Given the description of an element on the screen output the (x, y) to click on. 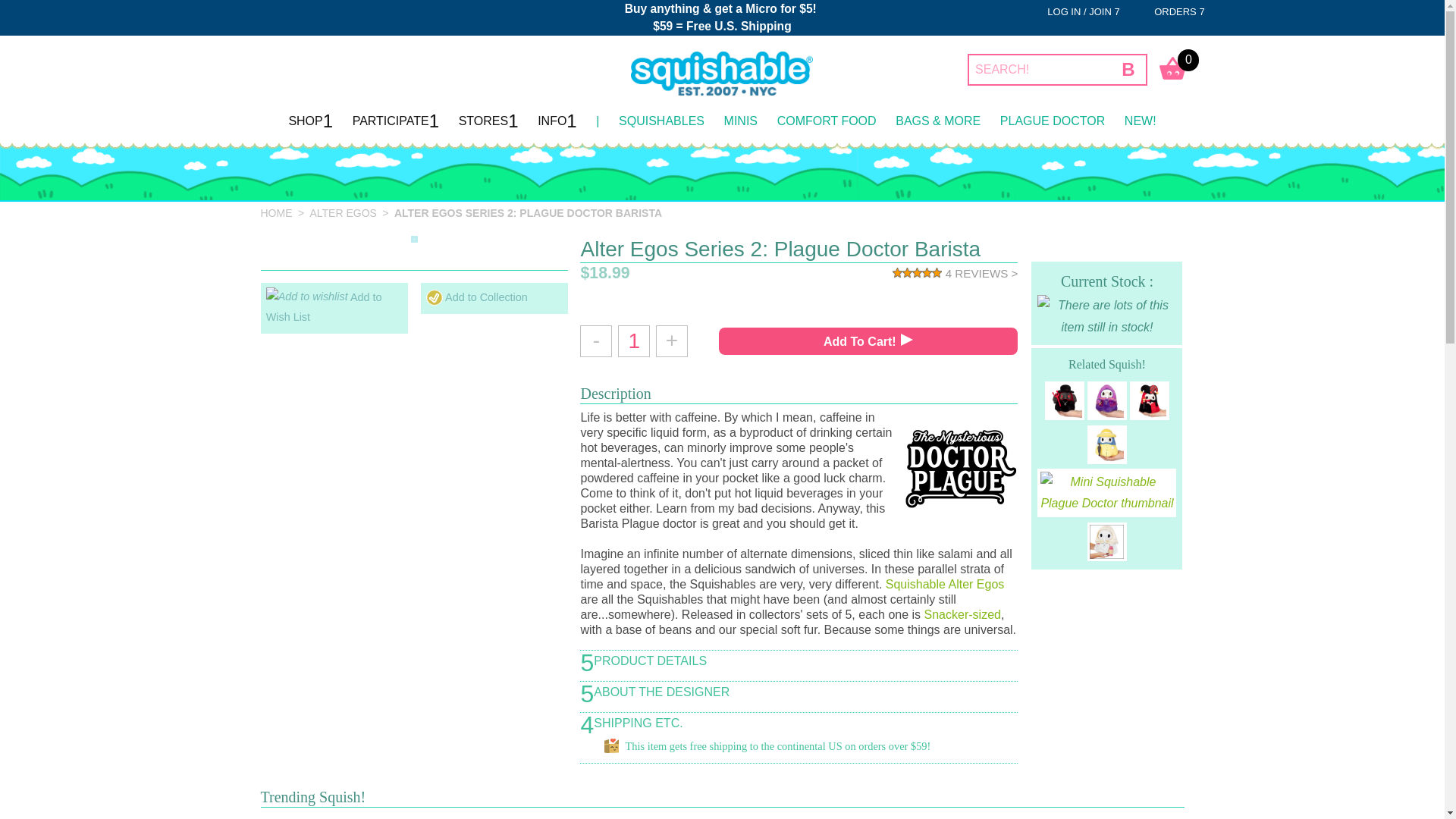
Alter Egos Series 2: Plague Doctor Barista (528, 213)
Alter Egos Series 2: Plague Doctor Fortune Teller (1106, 399)
squishable.com (721, 72)
Mini Squishable Plague Doctor (1107, 492)
Mini Squishable Plague Nurse (1106, 540)
Search for a product by typing in a value here (1039, 69)
Alter Egos Series 2: Plague Doctor Barista (413, 238)
Home (277, 213)
1 (633, 341)
The Mysterious Doctor Plague Logo (960, 467)
Alter Egos Series 2: Plague Doctor Rainy (1106, 443)
Alter Egos Series 2: Plague Doctor Jester (1149, 399)
- (595, 341)
ORDERS (1179, 11)
Alter Egos Series 2: Plague Doctor Demon (1064, 399)
